Given the description of an element on the screen output the (x, y) to click on. 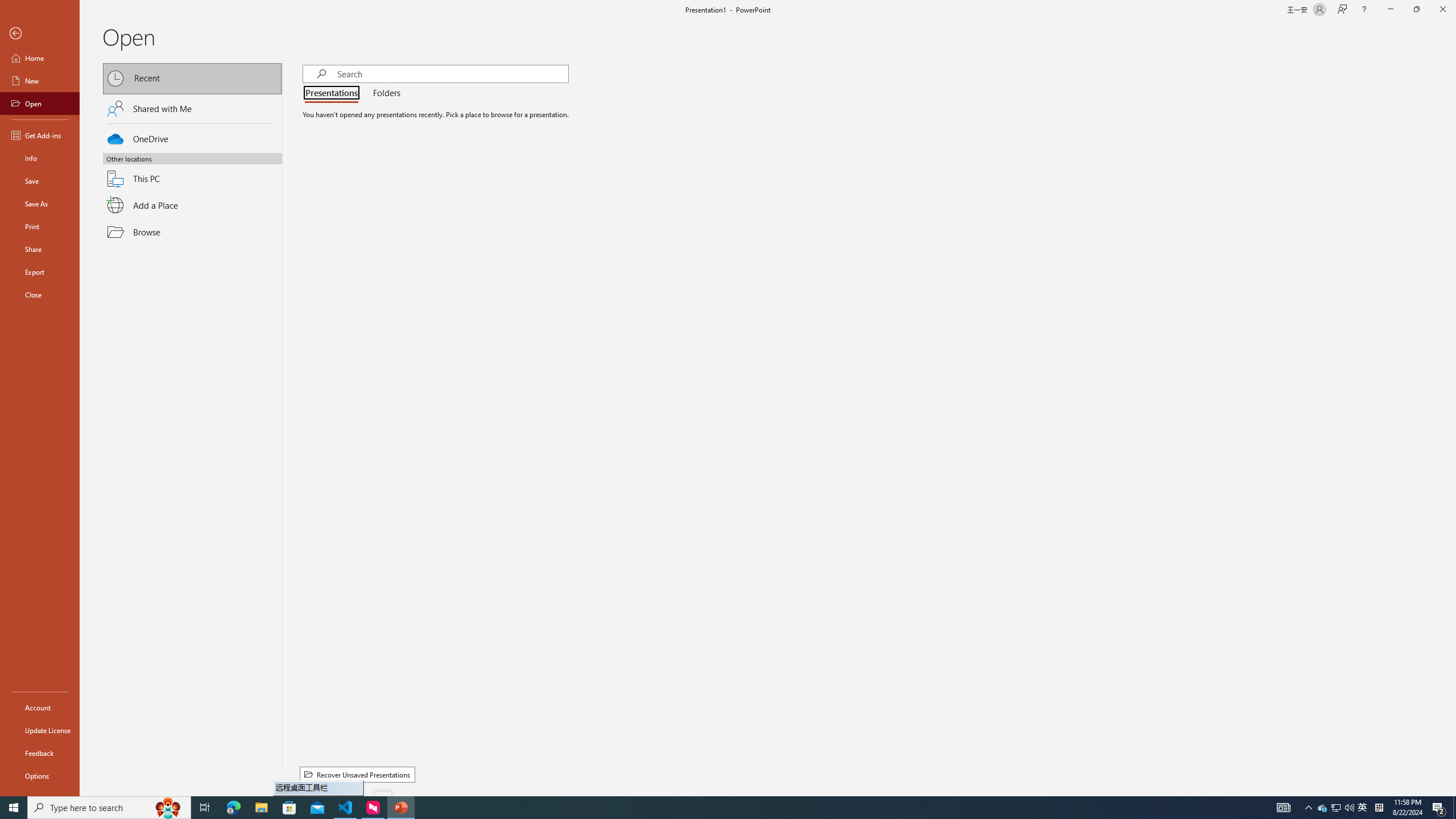
Recover Unsaved Presentations (356, 774)
Info (40, 157)
Export (40, 271)
Back (40, 33)
Feedback (40, 753)
New (40, 80)
Folders (384, 93)
This PC (192, 171)
